Given the description of an element on the screen output the (x, y) to click on. 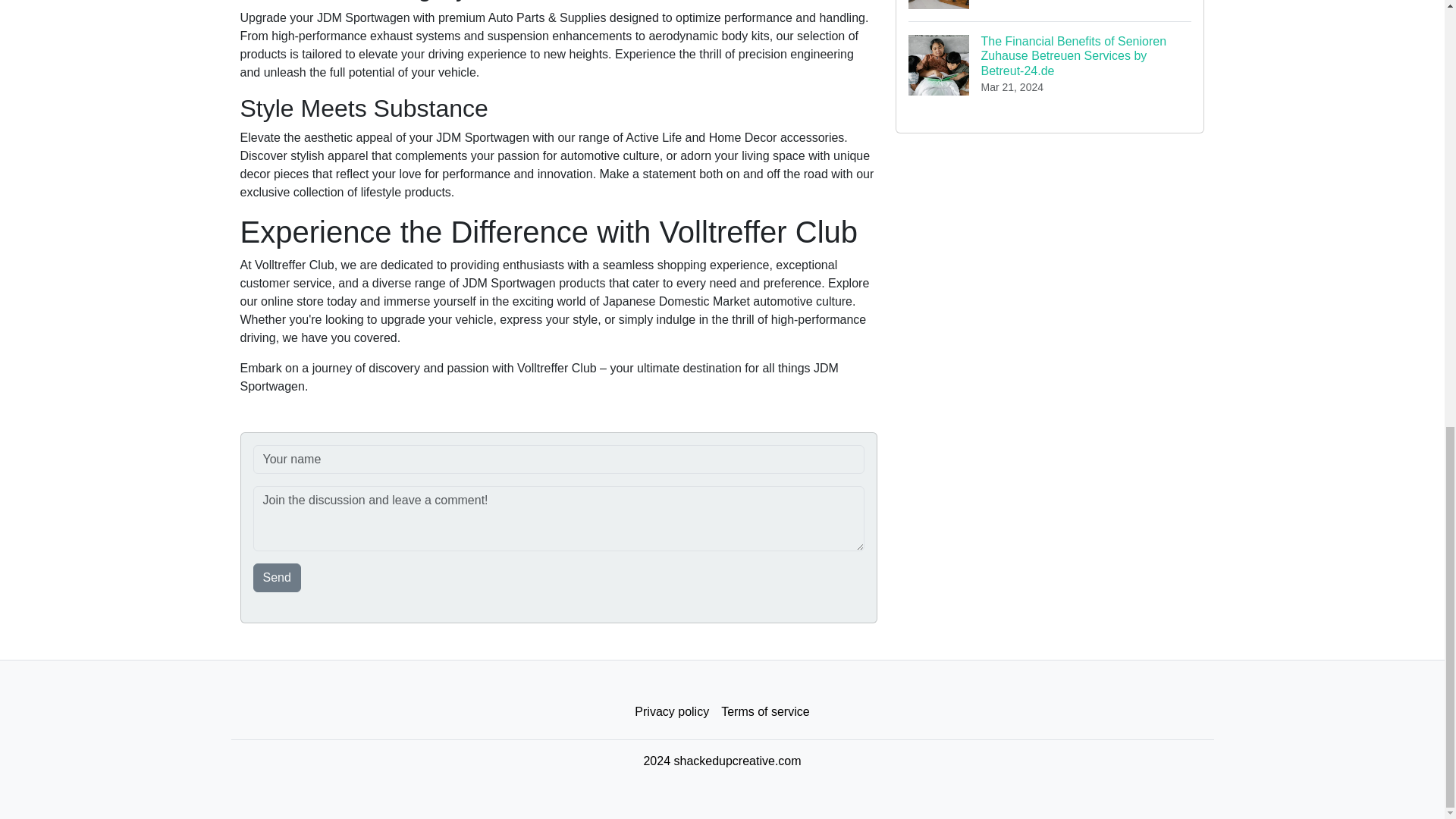
Privacy policy (671, 711)
Send (277, 577)
Terms of service (764, 711)
Send (277, 577)
